Given the description of an element on the screen output the (x, y) to click on. 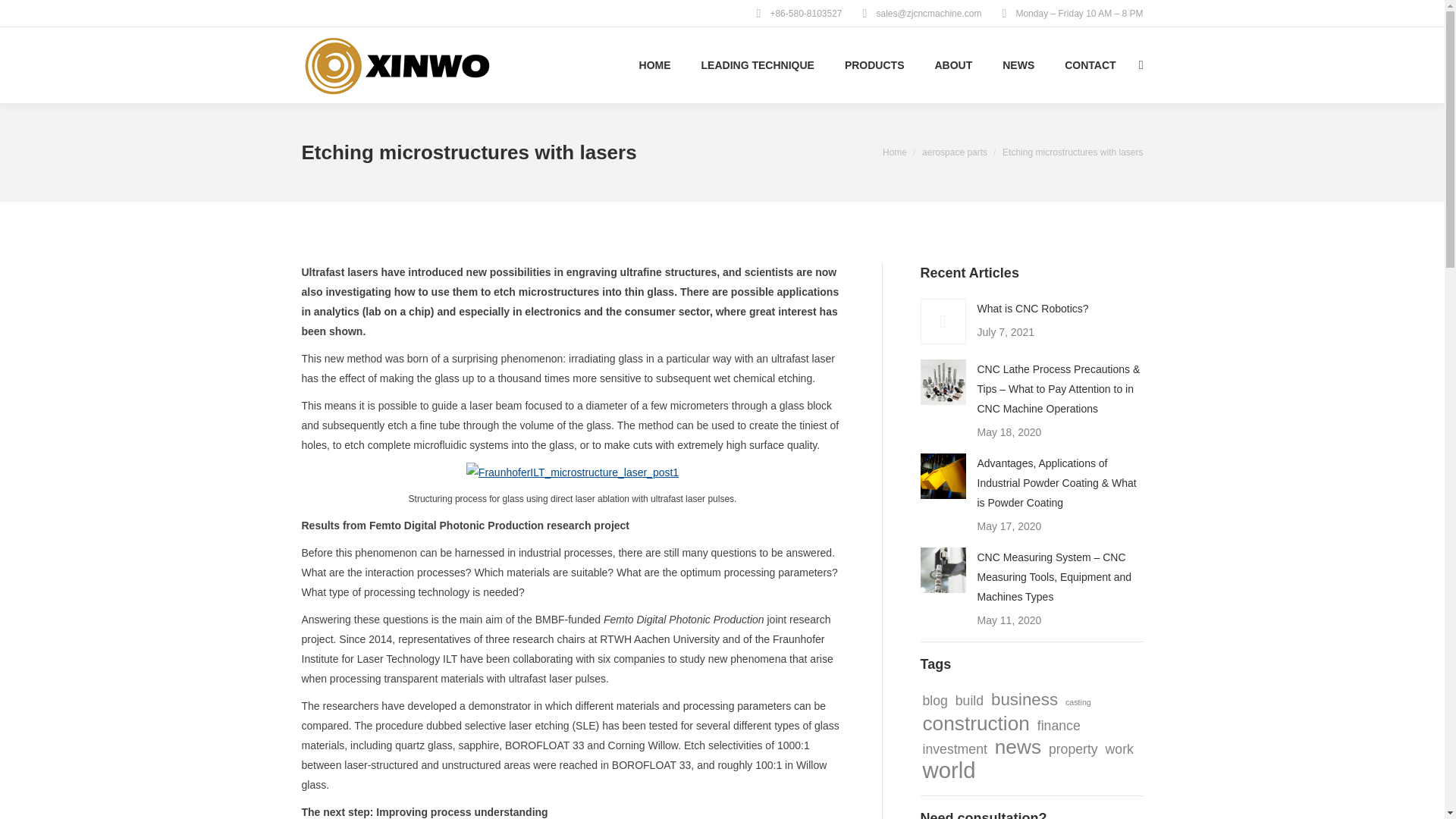
Home (894, 152)
aerospace parts (954, 152)
Go! (24, 15)
LEADING TECHNIQUE (757, 65)
PRODUCTS (874, 65)
